Given the description of an element on the screen output the (x, y) to click on. 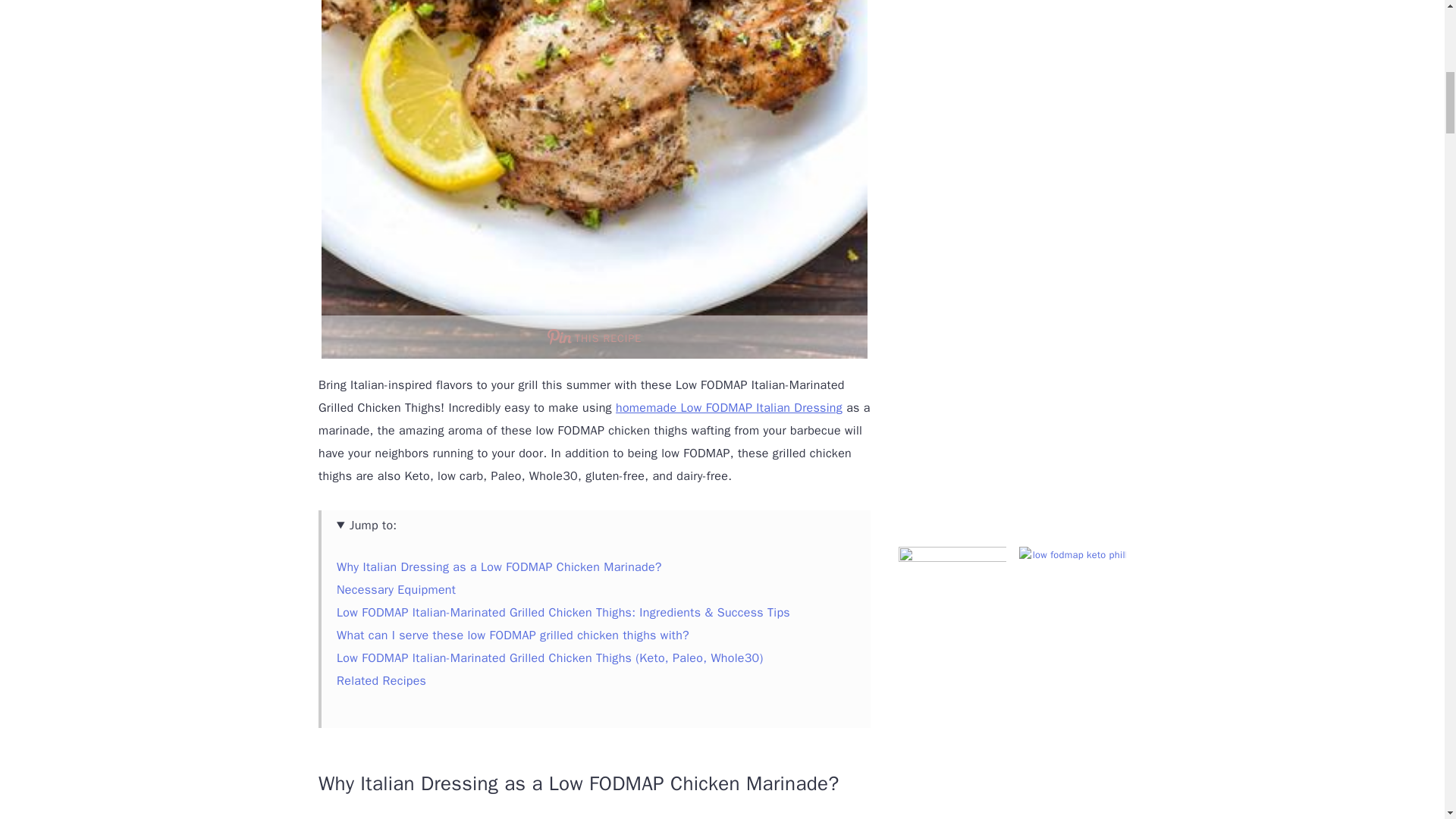
THIS RECIPE (594, 336)
homemade Low FODMAP Italian Dressing (729, 407)
Why Italian Dressing as a Low FODMAP Chicken Marinade? (499, 566)
Necessary Equipment (395, 589)
